Given the description of an element on the screen output the (x, y) to click on. 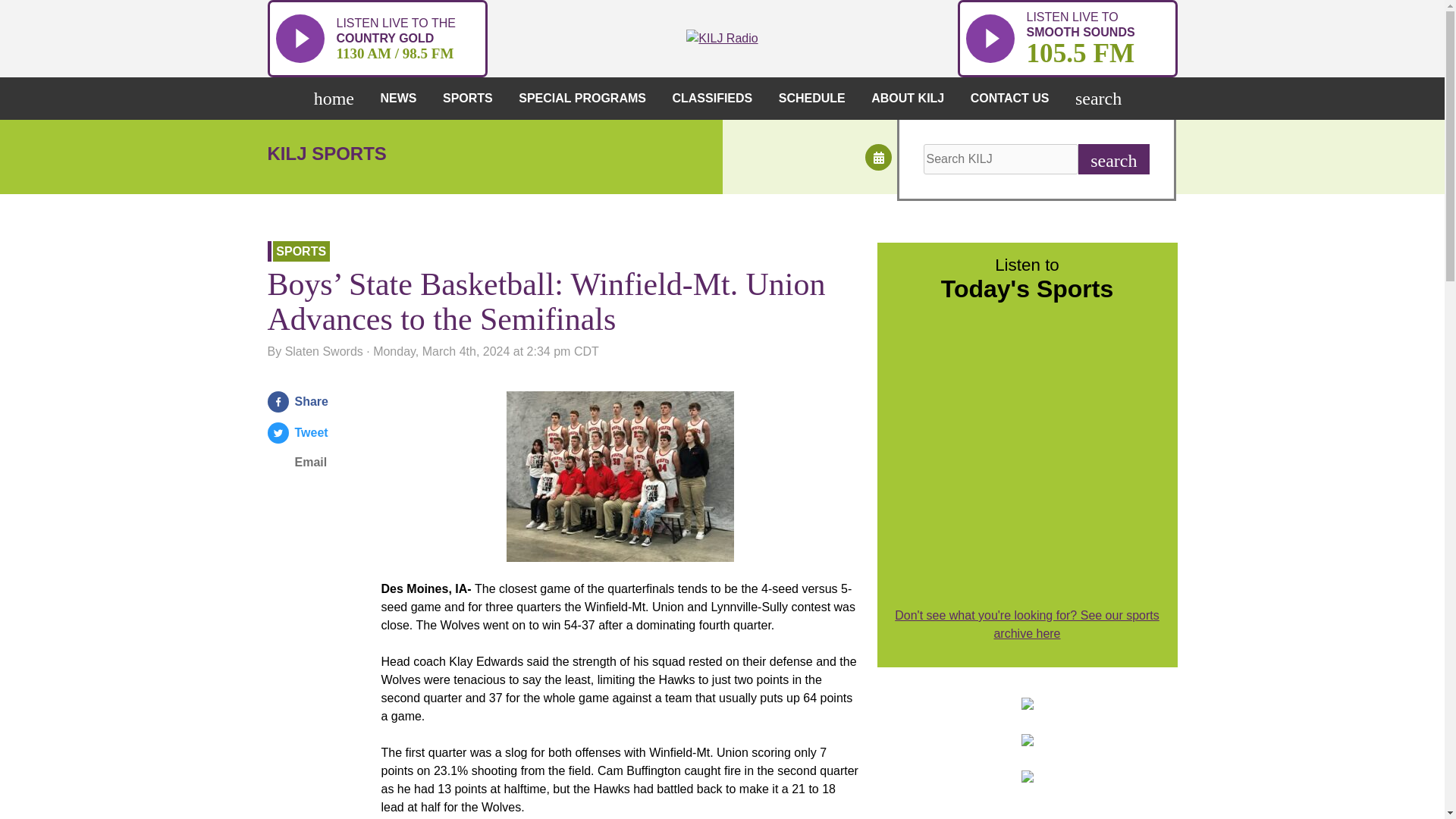
NEWS (402, 97)
home (1066, 38)
SPORTS (337, 97)
SPECIAL PROGRAMS (472, 97)
